Given the description of an element on the screen output the (x, y) to click on. 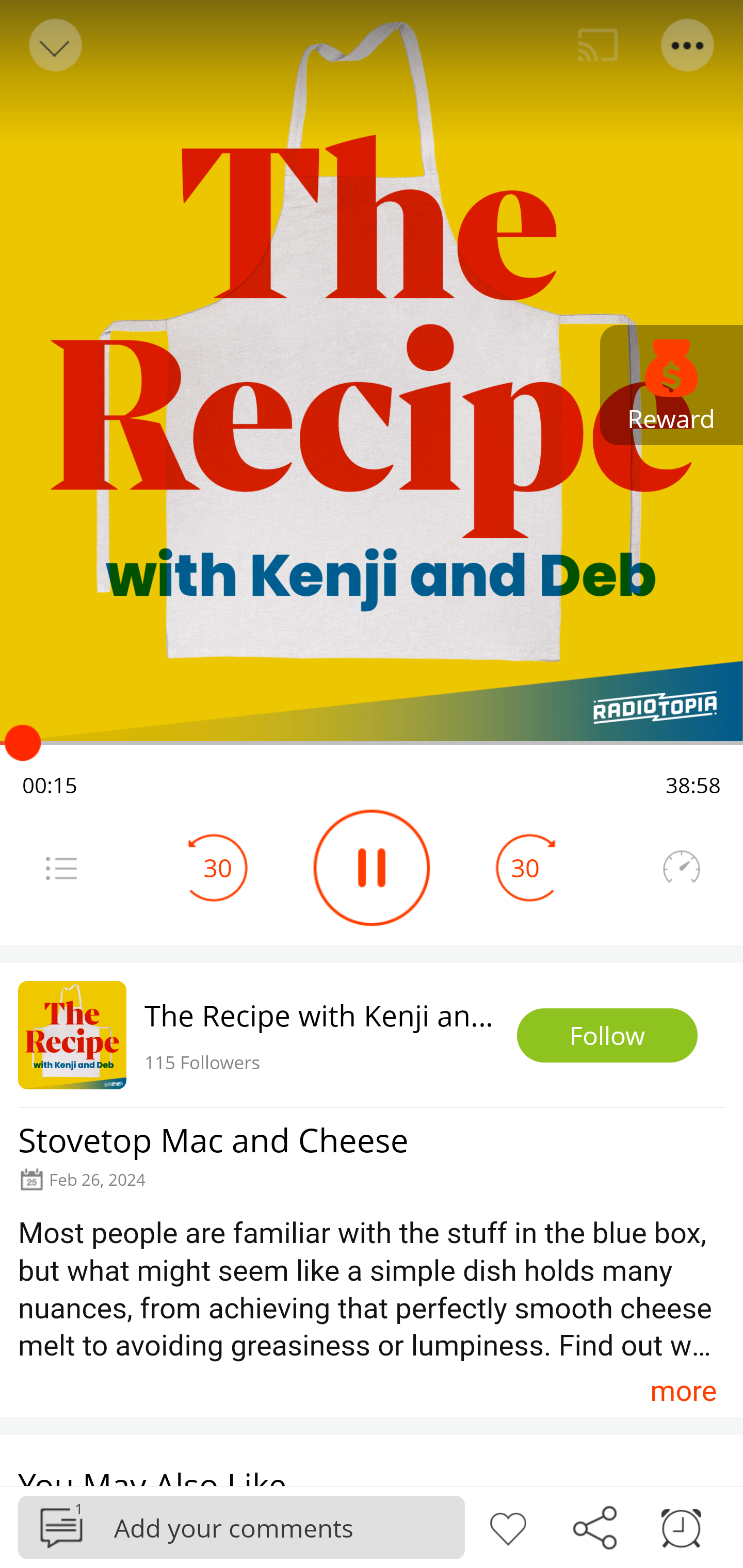
Back (53, 45)
Cast. Disconnected (597, 45)
Menu (688, 45)
Reward (671, 384)
Play (371, 867)
30 Seek Backward (217, 867)
30 Seek Forward (525, 867)
Menu (60, 867)
Speedometer (681, 867)
The Recipe with Kenji and Deb 115 Followers Follow (371, 1034)
Follow (607, 1035)
more (682, 1390)
Like (508, 1526)
Share (594, 1526)
Sleep timer (681, 1526)
Podbean 1 Add your comments (241, 1526)
